Given the description of an element on the screen output the (x, y) to click on. 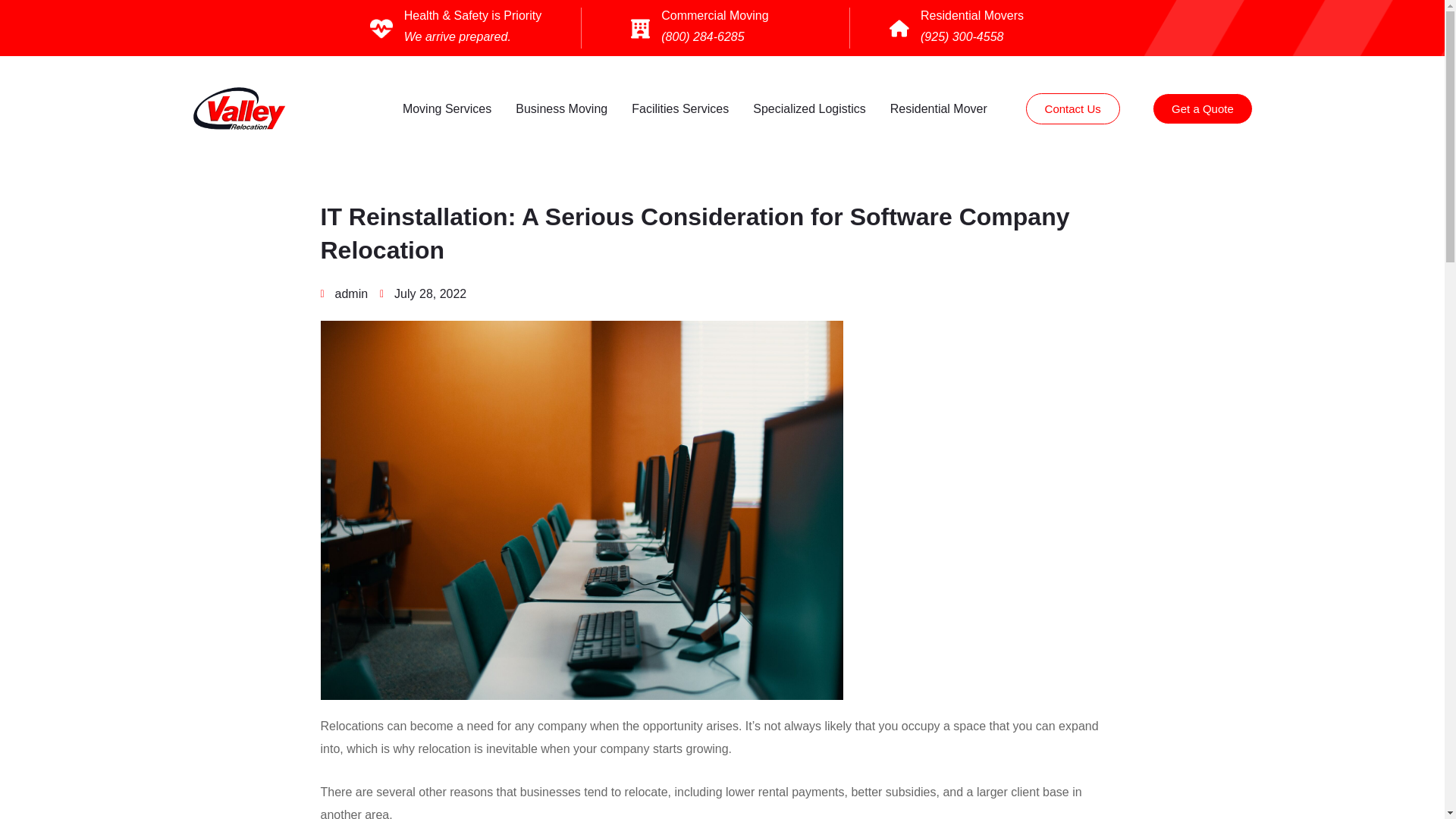
Business Moving (564, 108)
Specialized Logistics (812, 108)
Moving Services (451, 108)
Facilities Services (683, 108)
